Given the description of an element on the screen output the (x, y) to click on. 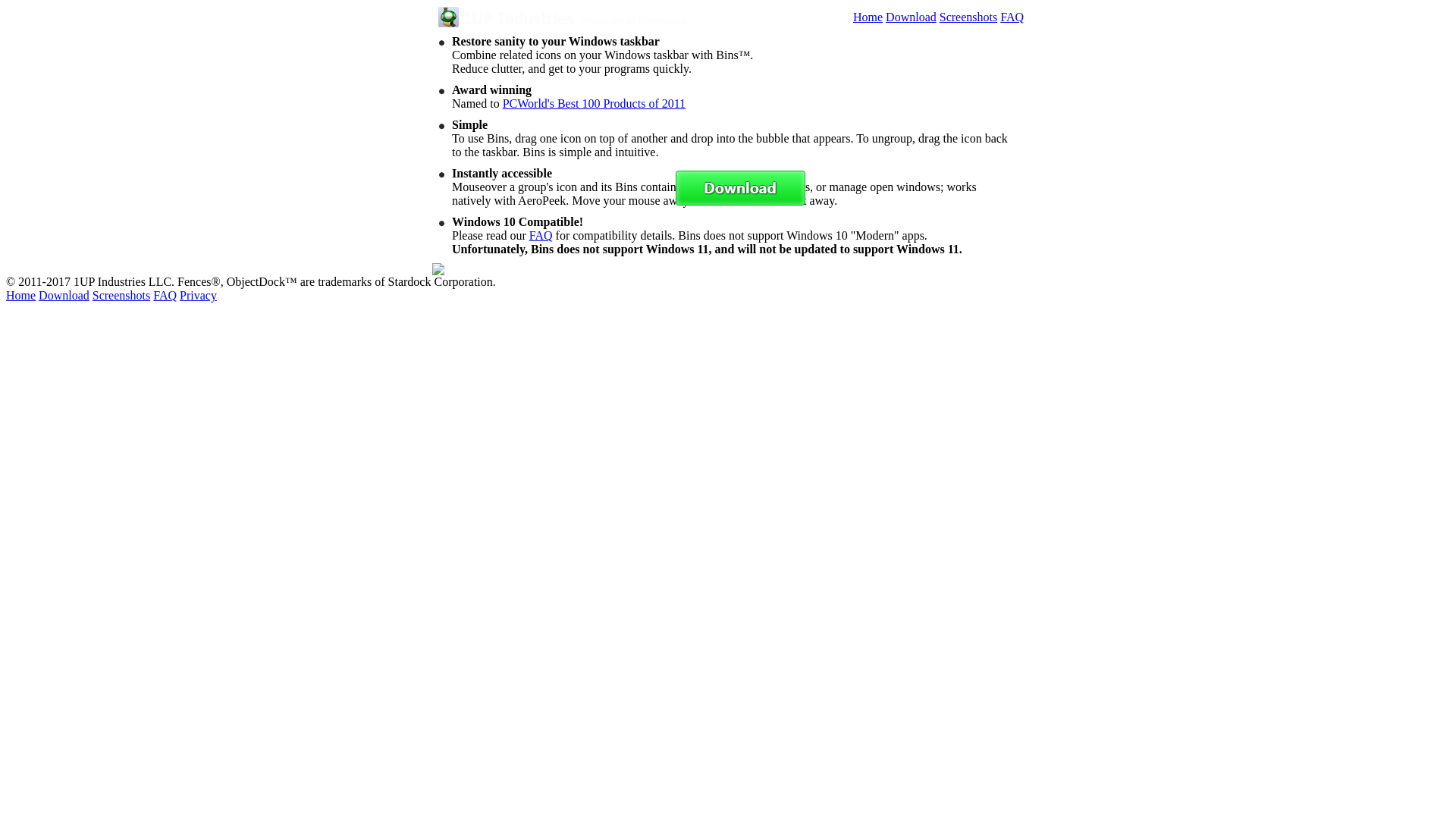
Privacy Element type: text (197, 294)
Screenshots Element type: text (968, 16)
Home Element type: text (20, 294)
Screenshots Element type: text (121, 294)
PCWorld's Best 100 Products of 2011 Element type: text (593, 103)
Home Element type: text (867, 16)
FAQ Element type: text (164, 294)
FAQ Element type: text (540, 235)
FAQ Element type: text (1011, 16)
Download Element type: text (910, 16)
Download Element type: text (63, 294)
